Given the description of an element on the screen output the (x, y) to click on. 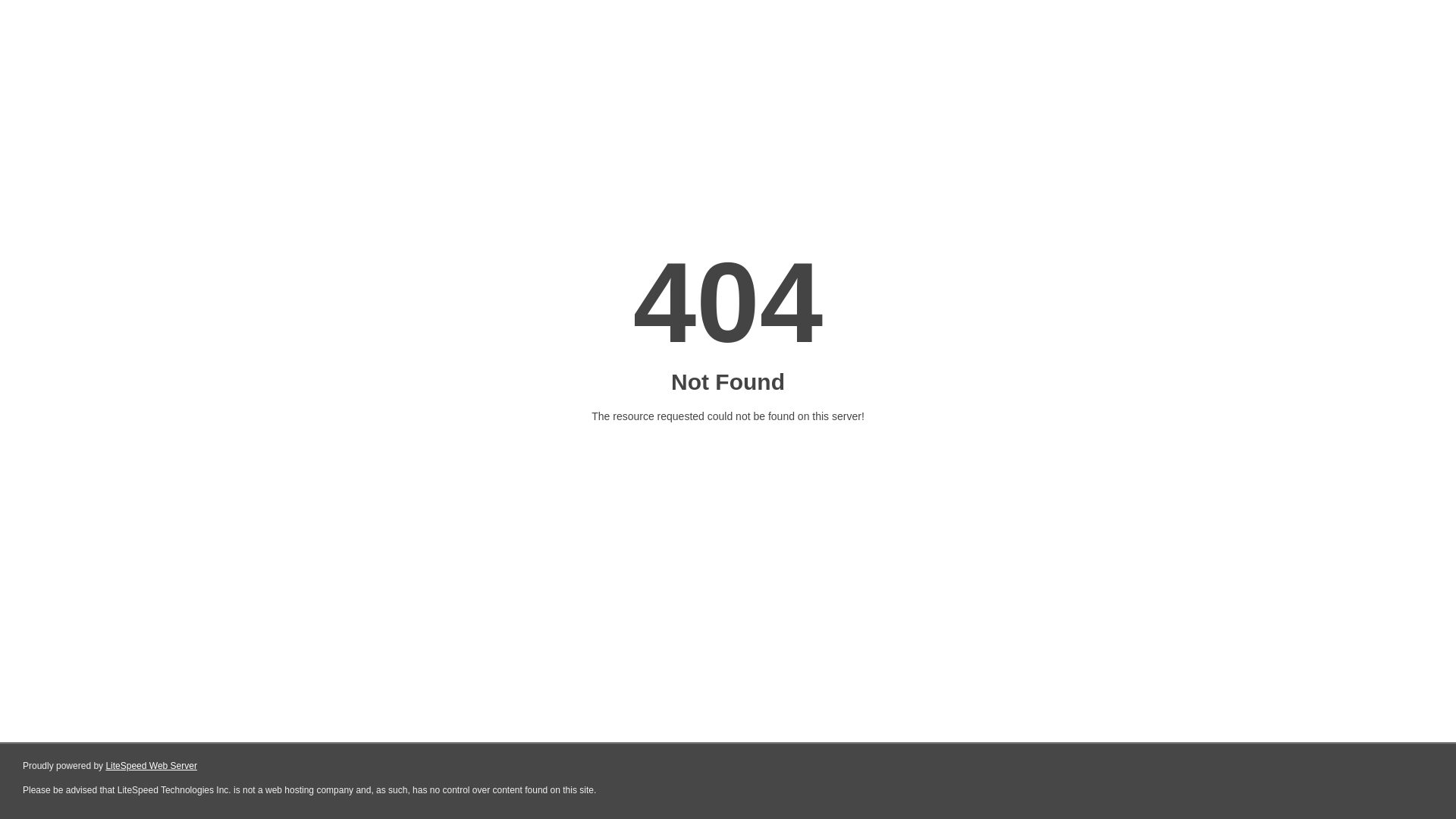
LiteSpeed Web Server Element type: text (151, 765)
